Given the description of an element on the screen output the (x, y) to click on. 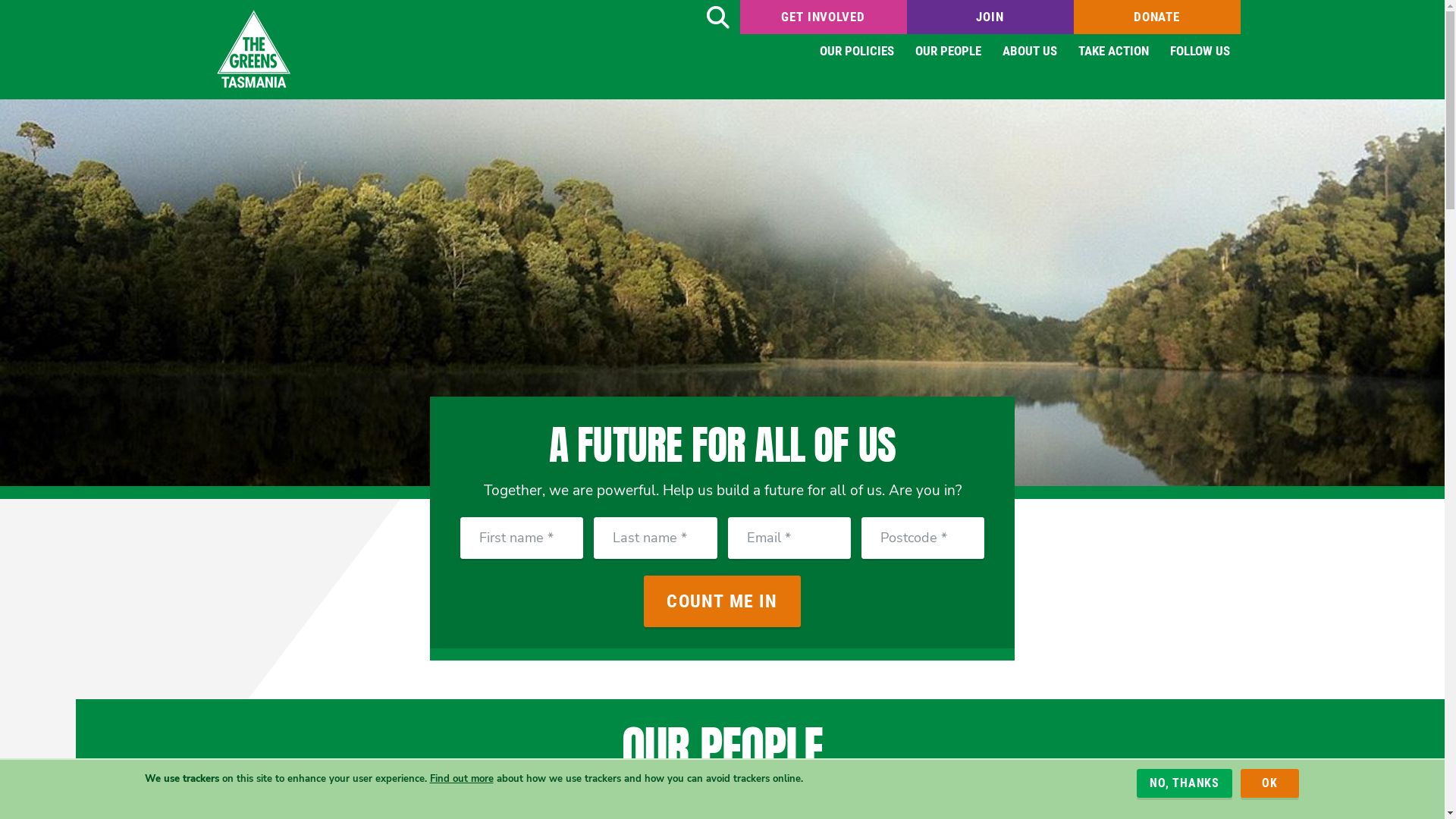
Search Element type: text (716, 17)
Skip to main content Element type: text (0, 0)
FOLLOW US Element type: text (1198, 51)
DONATE Element type: text (1156, 17)
OK Element type: text (1269, 782)
NO, THANKS Element type: text (1184, 782)
OUR POLICIES Element type: text (855, 51)
JOIN Element type: text (989, 17)
Find out more Element type: text (460, 778)
ABOUT US Element type: text (1029, 51)
GET INVOLVED Element type: text (823, 17)
OUR PEOPLE Element type: text (947, 51)
TAKE ACTION Element type: text (1113, 51)
COUNT ME IN Element type: text (721, 601)
